Given the description of an element on the screen output the (x, y) to click on. 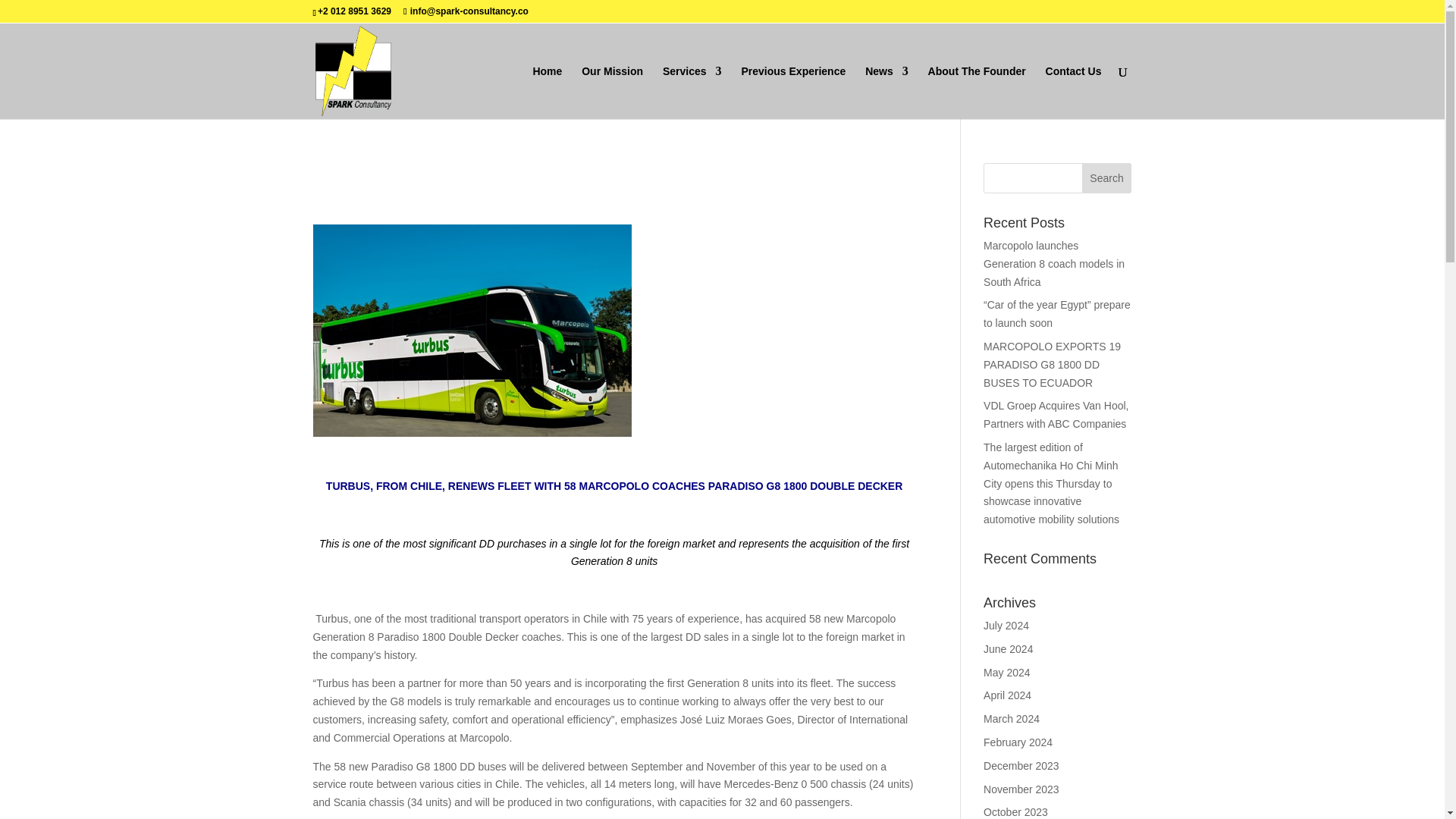
MARCOPOLO EXPORTS 19 PARADISO G8 1800 DD BUSES TO ECUADOR (1052, 364)
MP1 (471, 330)
VDL Groep Acquires Van Hool, Partners with ABC Companies (1056, 414)
News (886, 92)
Search (1106, 177)
About The Founder (977, 92)
Home (547, 92)
Contact Us (1073, 92)
Previous Experience (793, 92)
Our Mission (611, 92)
Search (1106, 177)
Marcopolo launches Generation 8 coach models in South Africa (1054, 263)
Services (692, 92)
